Given the description of an element on the screen output the (x, y) to click on. 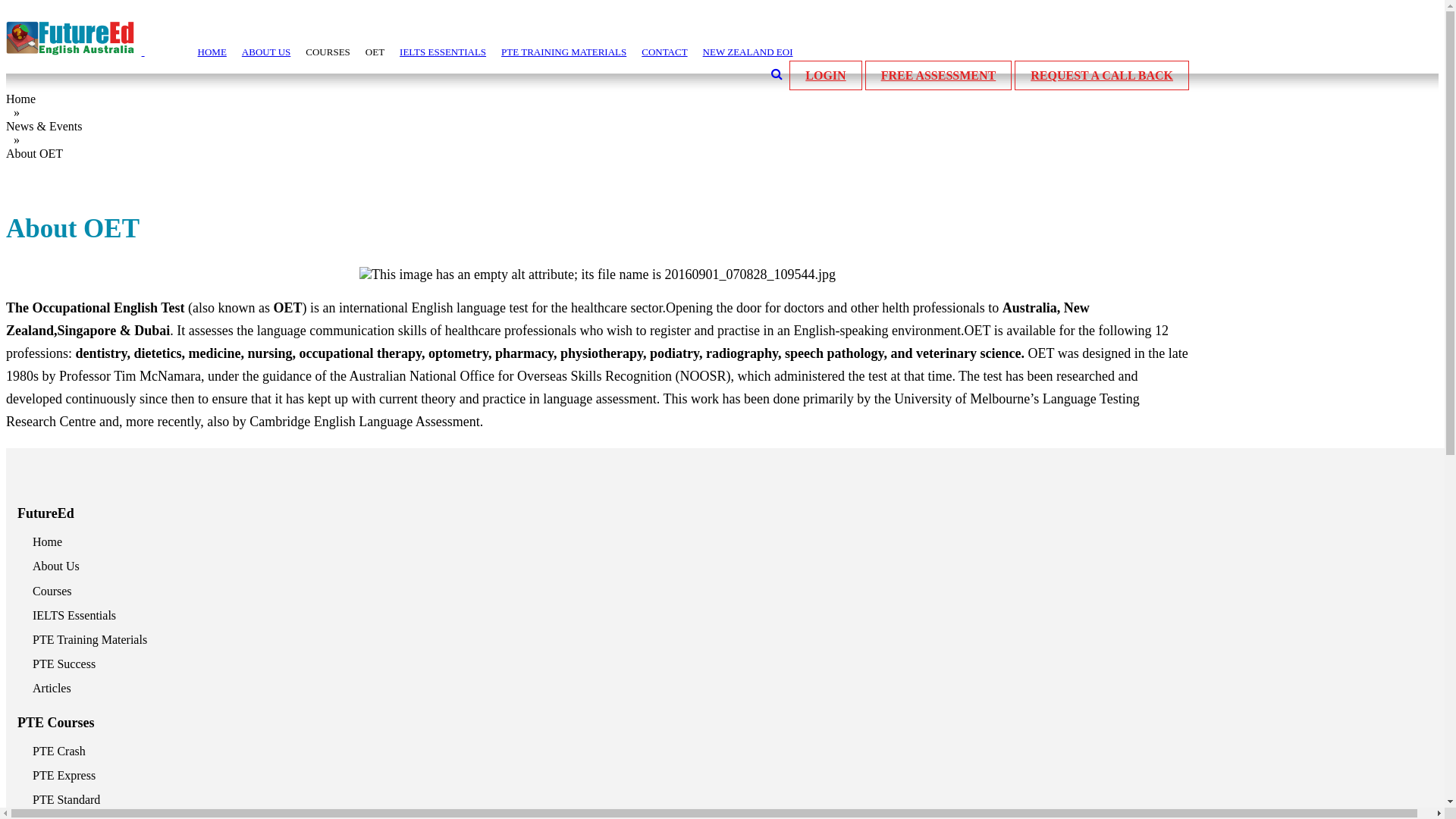
About Us Element type: text (55, 565)
NEW ZEALAND EOI Element type: text (747, 51)
PTE TRAINING MATERIALS Element type: text (563, 51)
PTE Training Materials Element type: text (89, 639)
PTE Standard Element type: text (66, 799)
OET Element type: text (374, 51)
LOGIN Element type: text (825, 75)
FutureEd English Australia Element type: hover (73, 38)
PTE Success Element type: text (63, 663)
CONTACT Element type: text (664, 51)
Articles Element type: text (51, 687)
FREE ASSESSMENT Element type: text (938, 75)
HOME Element type: text (211, 51)
PTE Crash Element type: text (58, 750)
ABOUT US Element type: text (265, 51)
IELTS ESSENTIALS Element type: text (442, 51)
COURSES Element type: text (327, 51)
REQUEST A CALL BACK Element type: text (1101, 75)
IELTS Essentials Element type: text (74, 614)
Courses Element type: text (52, 590)
Home Element type: text (20, 98)
Home Element type: text (47, 541)
PTE Express Element type: text (63, 774)
News & Events Element type: text (43, 125)
